Given the description of an element on the screen output the (x, y) to click on. 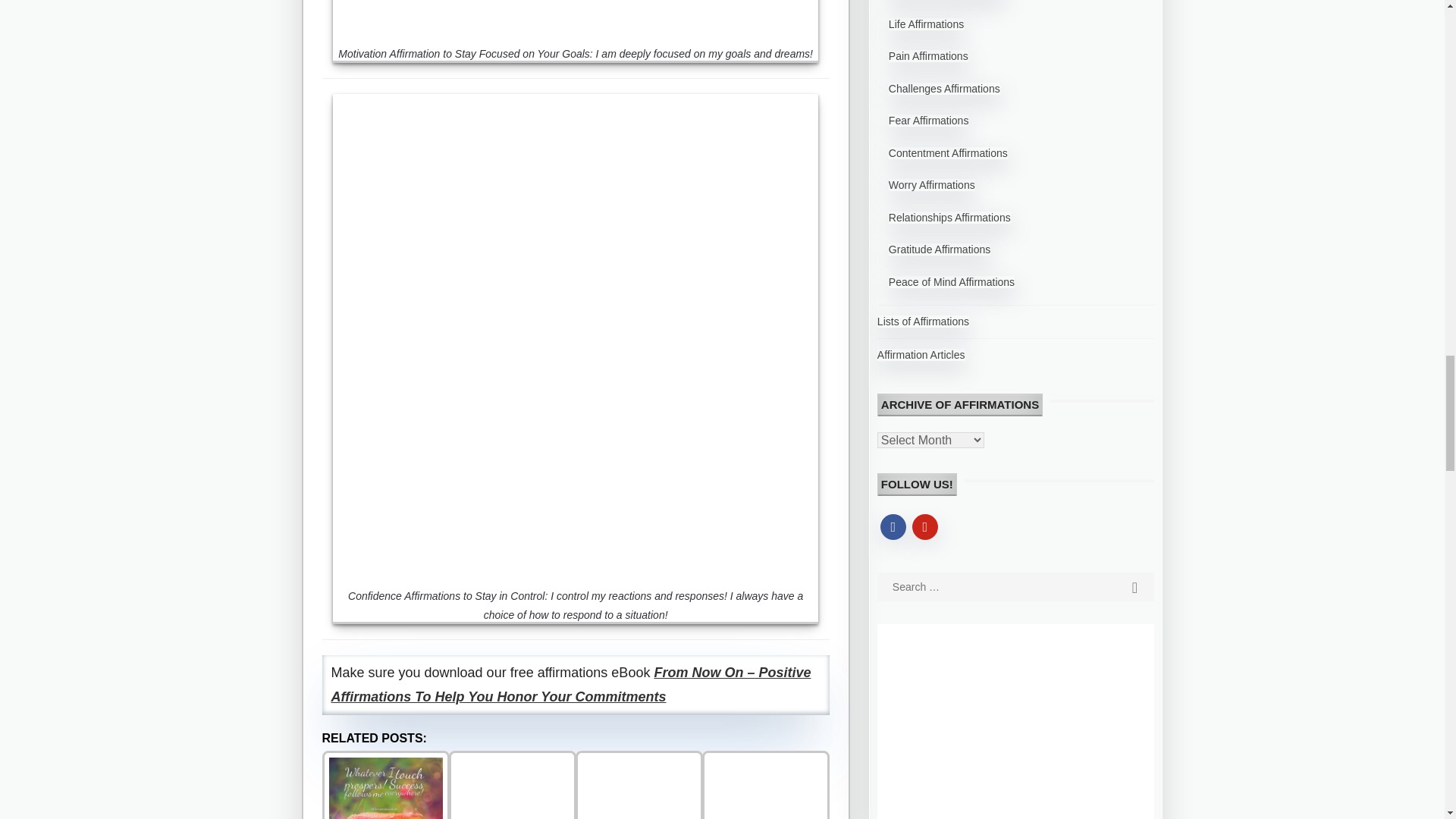
I am deeply focused on my goals and dreams! (575, 18)
I Am Successful in All Areas of My Life (384, 785)
